Given the description of an element on the screen output the (x, y) to click on. 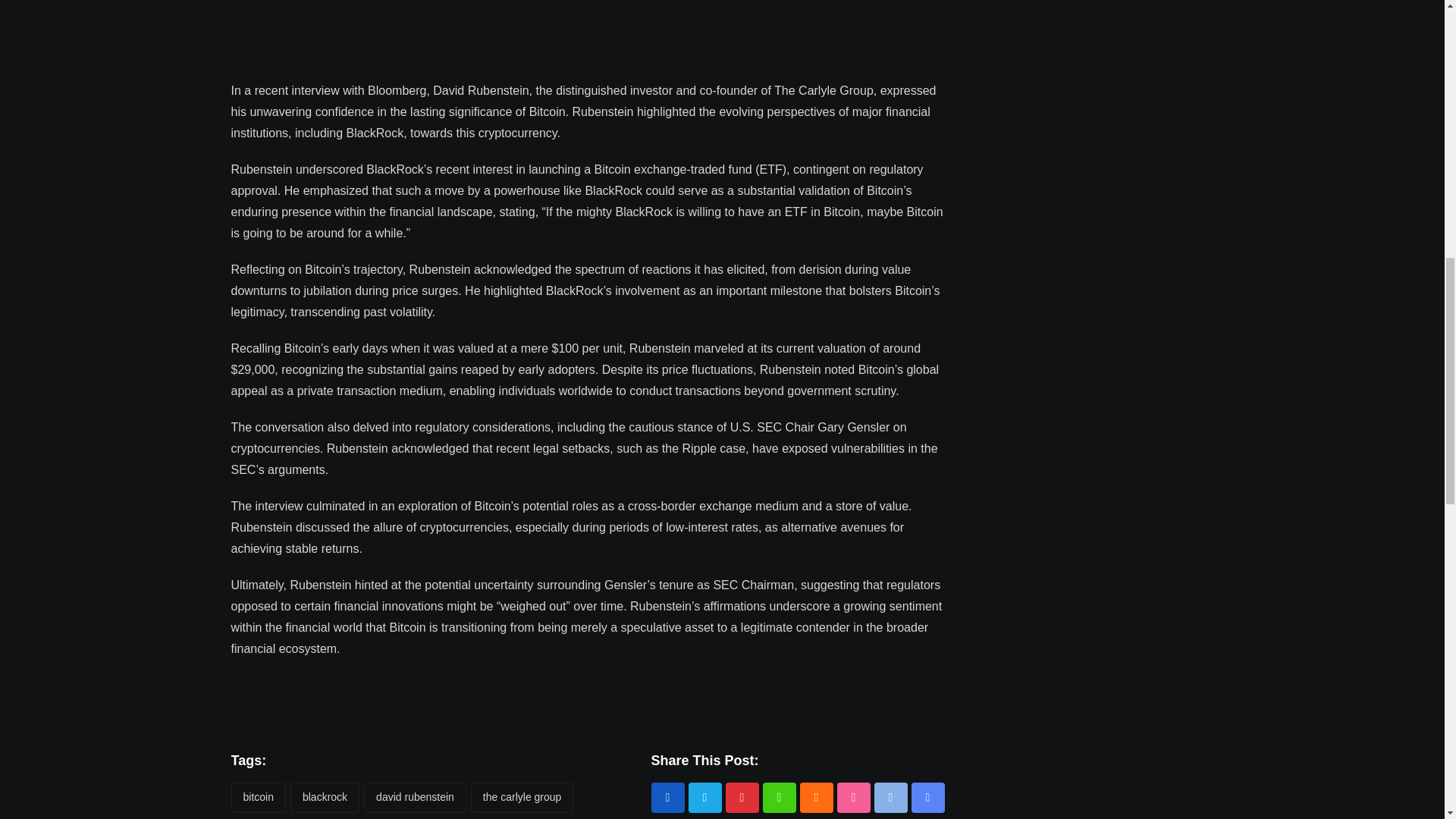
bitcoin (257, 797)
blackrock (324, 797)
david rubenstein (414, 797)
the carlyle group (521, 797)
